Given the description of an element on the screen output the (x, y) to click on. 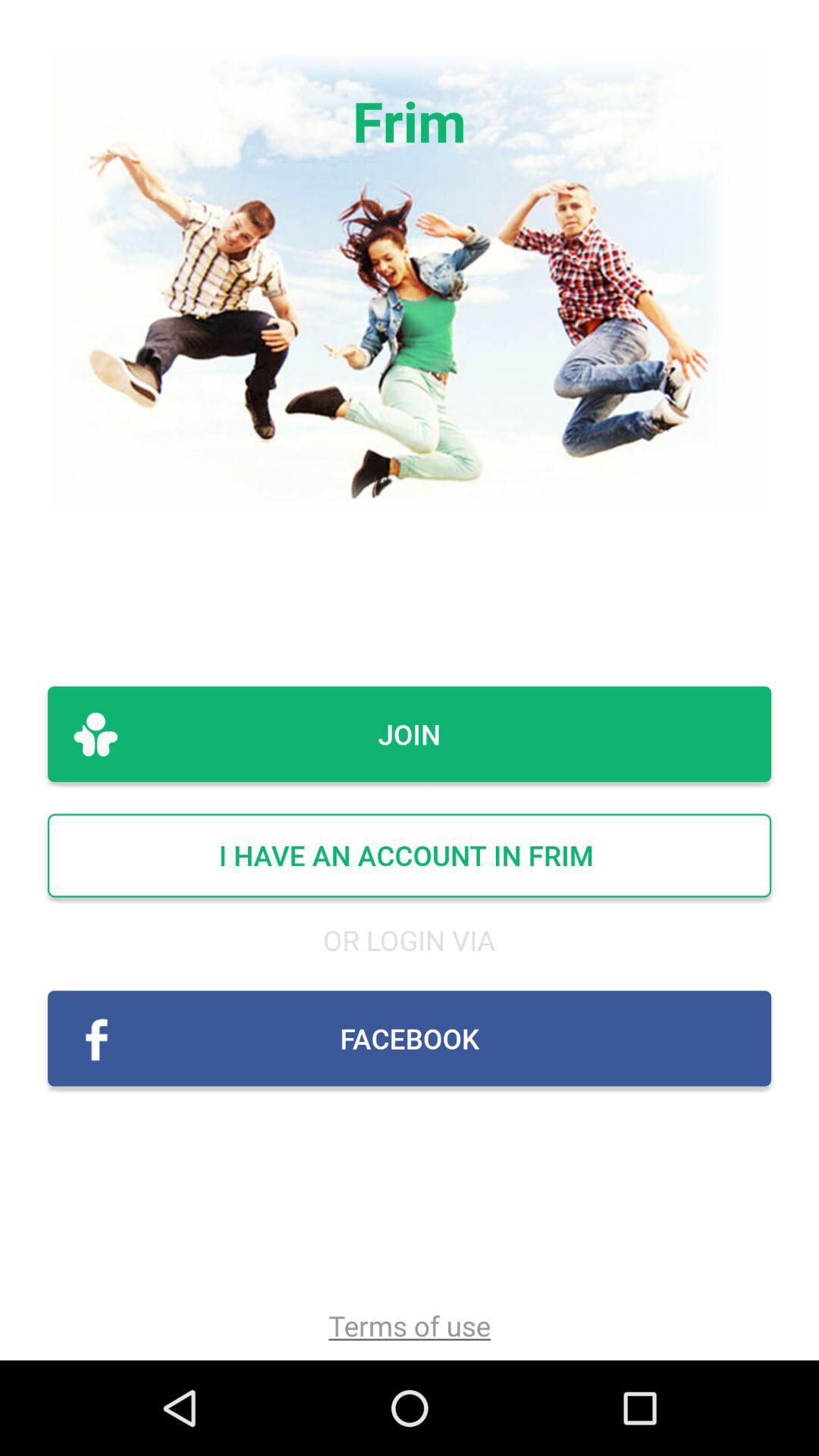
click item below join (409, 855)
